Given the description of an element on the screen output the (x, y) to click on. 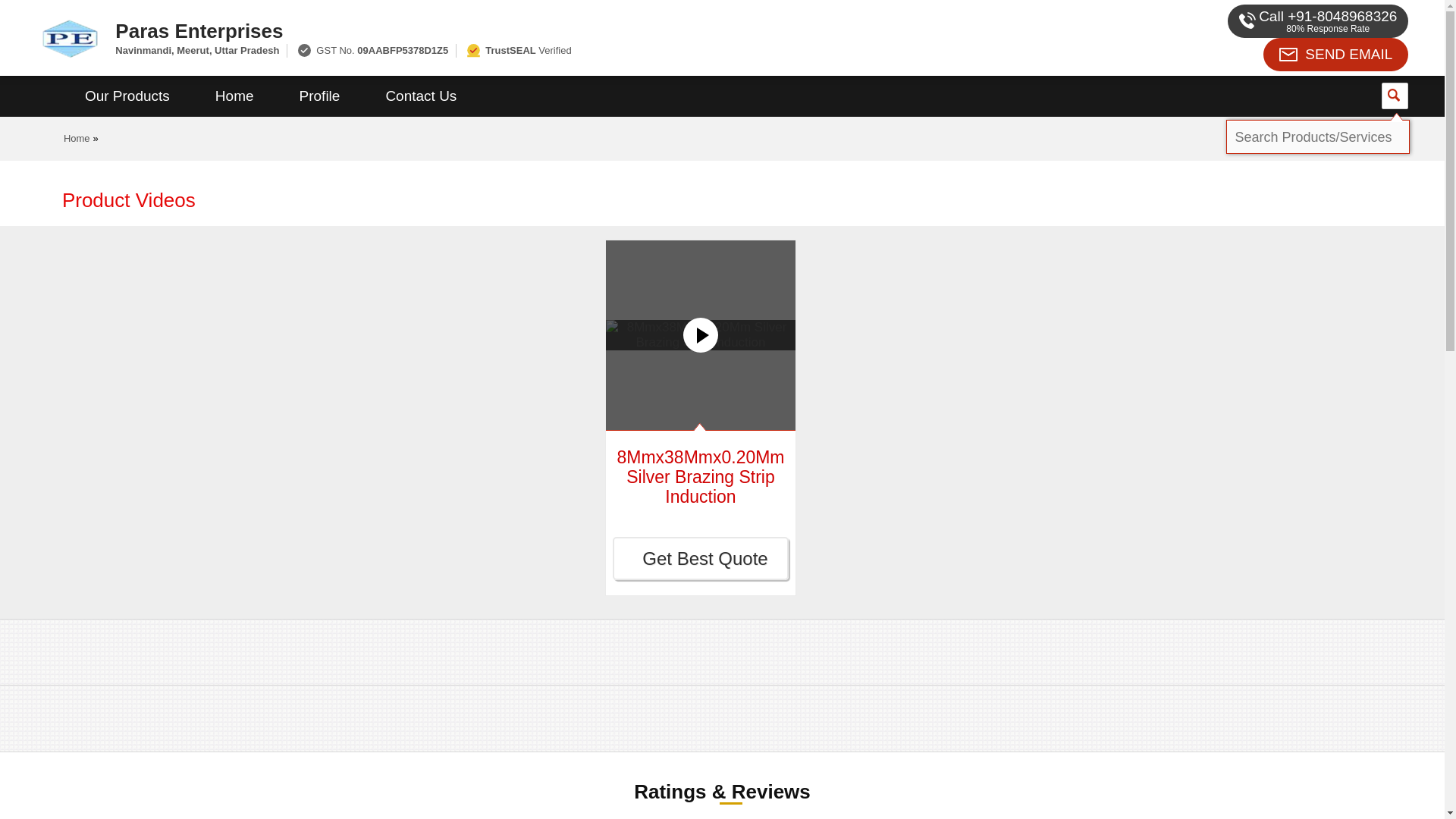
Profile (319, 96)
Home (234, 96)
8Mmx38Mmx0.20Mm Silver Brazing Strip Induction (699, 476)
Paras Enterprises (552, 31)
Our Products (127, 96)
Contact Us (420, 96)
Home (77, 138)
